Given the description of an element on the screen output the (x, y) to click on. 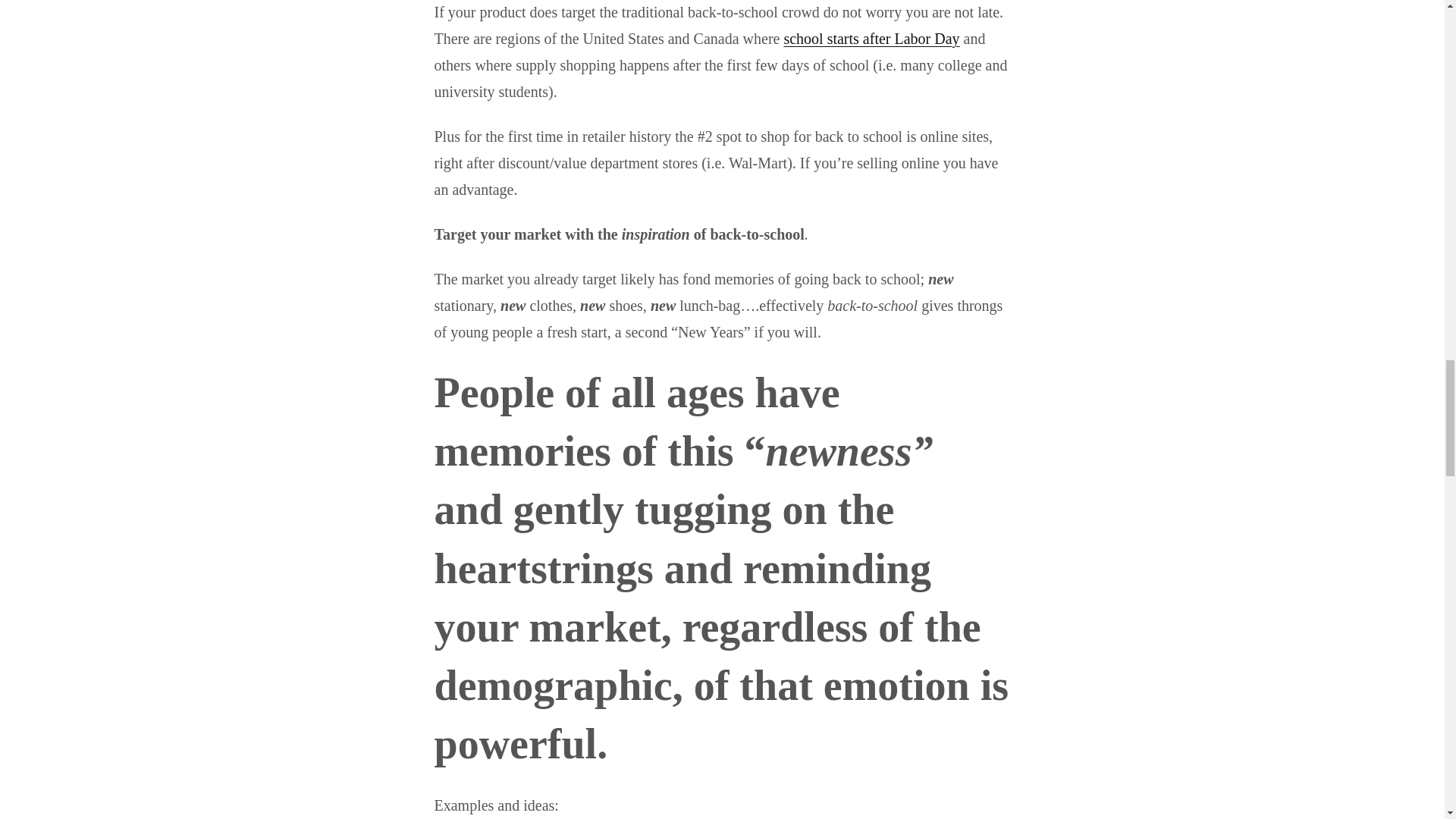
school starts after Labor Day (871, 38)
